Given the description of an element on the screen output the (x, y) to click on. 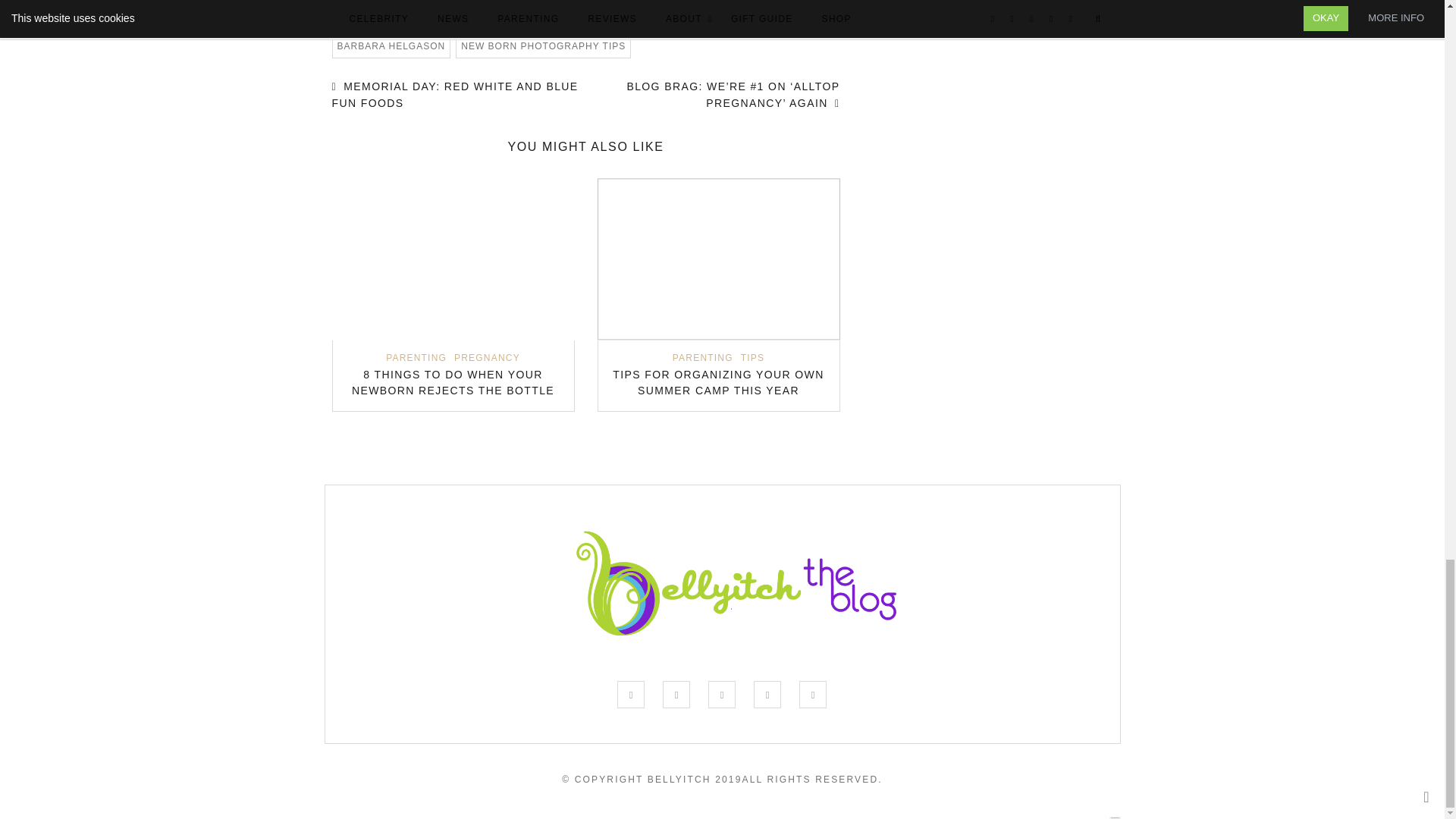
BARBARA HELGASON (391, 46)
Twitter (676, 694)
Facebook (541, 4)
Youtube (813, 694)
NEW BORN PHOTOGRAPHY TIPS (542, 46)
Pinterest (767, 694)
8 THINGS TO DO WHEN YOUR NEWBORN REJECTS THE BOTTLE (453, 382)
LinkedIn (605, 4)
MEMORIAL DAY: RED WHITE AND BLUE FUN FOODS (454, 94)
Pinterest (584, 4)
Twitter (562, 4)
PARENTING (702, 357)
Facebook (631, 694)
PARENTING (415, 357)
PREGNANCY (486, 357)
